Given the description of an element on the screen output the (x, y) to click on. 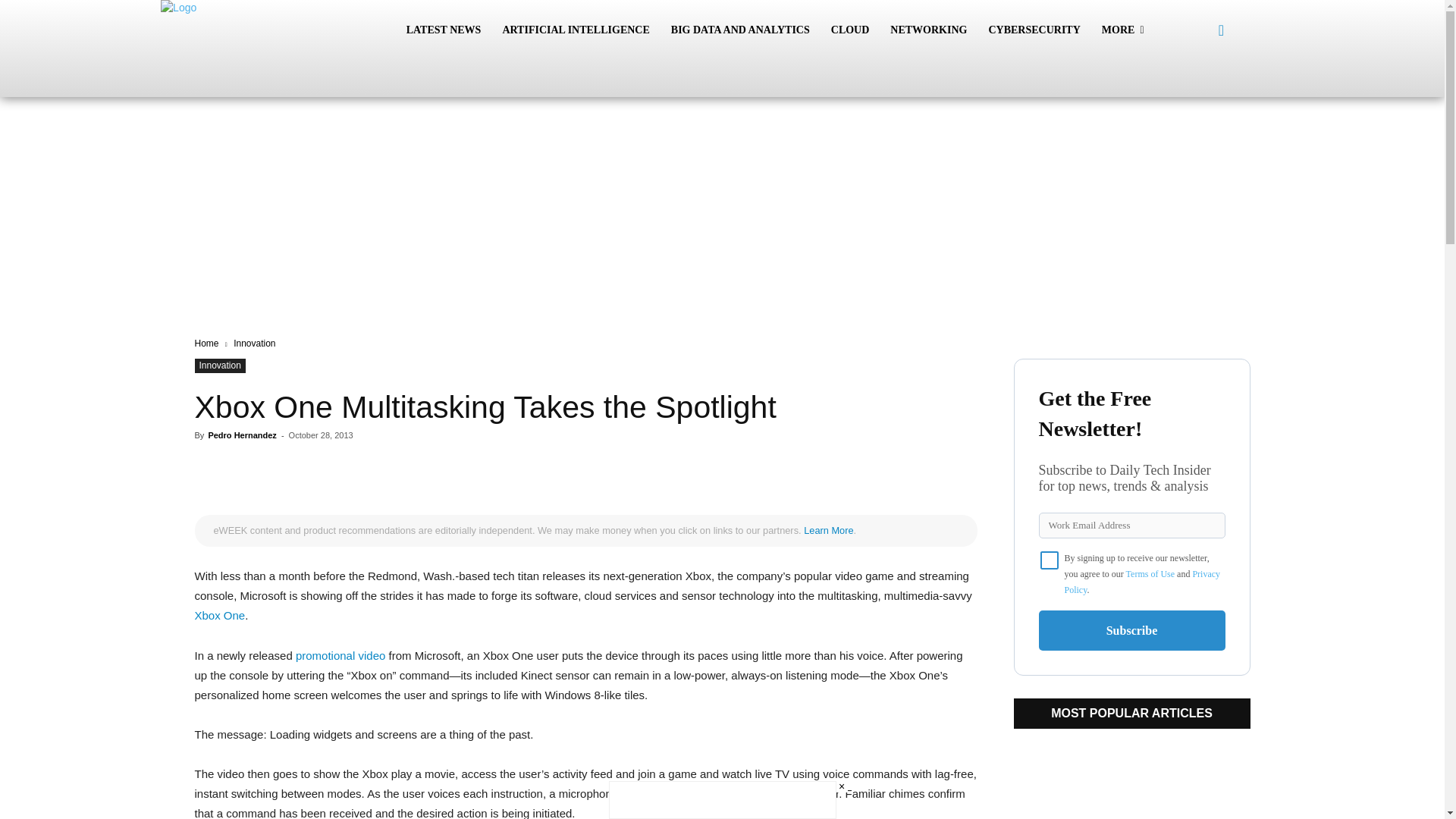
on (1049, 560)
ARTIFICIAL INTELLIGENCE (575, 30)
CLOUD (850, 30)
BIG DATA AND ANALYTICS (741, 30)
NETWORKING (927, 30)
CYBERSECURITY (1033, 30)
LATEST NEWS (444, 30)
